Given the description of an element on the screen output the (x, y) to click on. 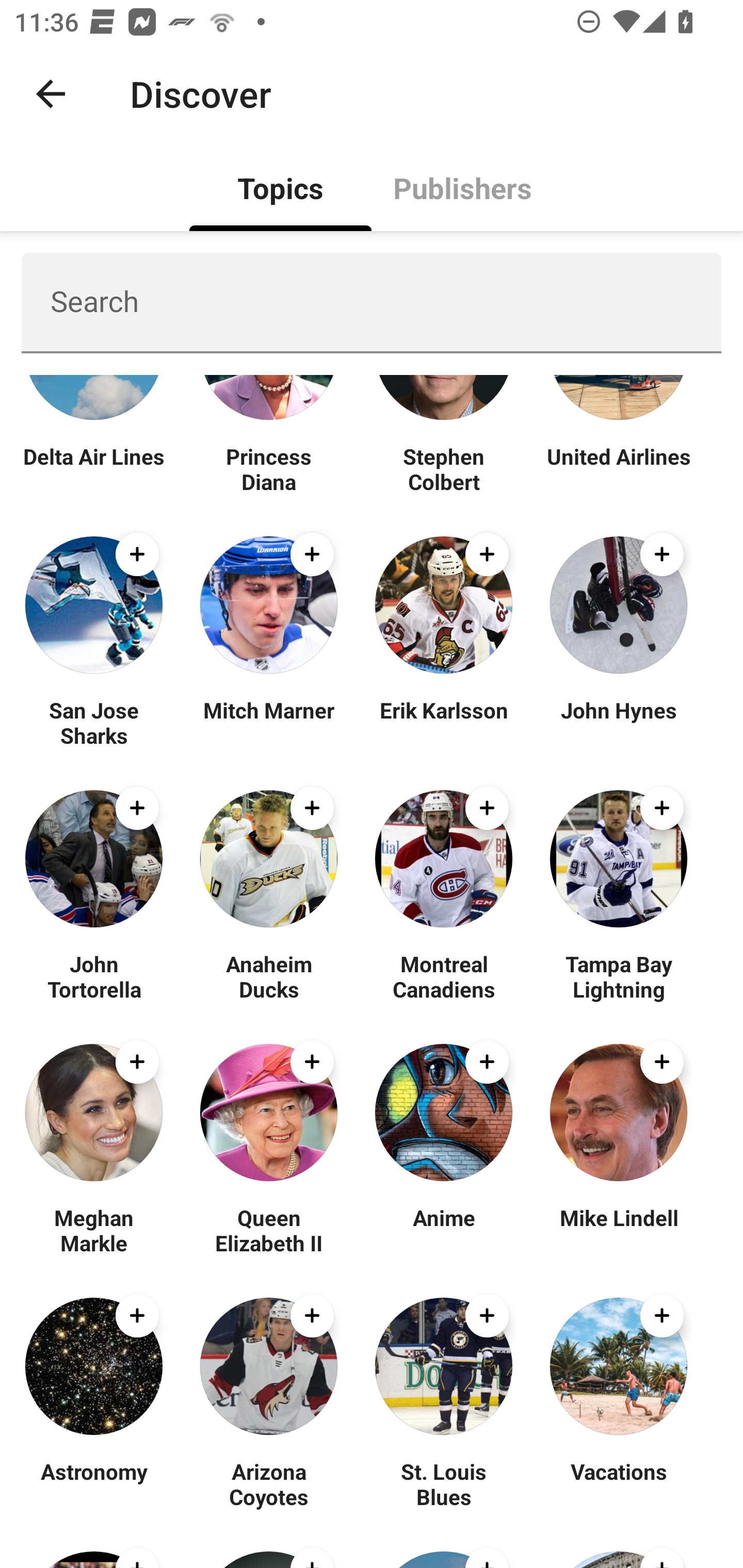
Publishers (462, 187)
Search (371, 302)
Delta Air Lines (93, 468)
Princess Diana (268, 468)
Stephen Colbert (443, 468)
United Airlines (618, 468)
San Jose Sharks (93, 721)
Mitch Marner (268, 721)
Erik Karlsson (443, 721)
John Hynes (618, 721)
John Tortorella (93, 975)
Anaheim Ducks (268, 975)
Montreal Canadiens (443, 975)
Tampa Bay Lightning (618, 975)
Meghan Markle (93, 1229)
Queen Elizabeth II (268, 1229)
Anime (443, 1229)
Mike Lindell (618, 1229)
Astronomy (93, 1483)
Arizona Coyotes (268, 1483)
St. Louis Blues (443, 1483)
Vacations (618, 1483)
